Given the description of an element on the screen output the (x, y) to click on. 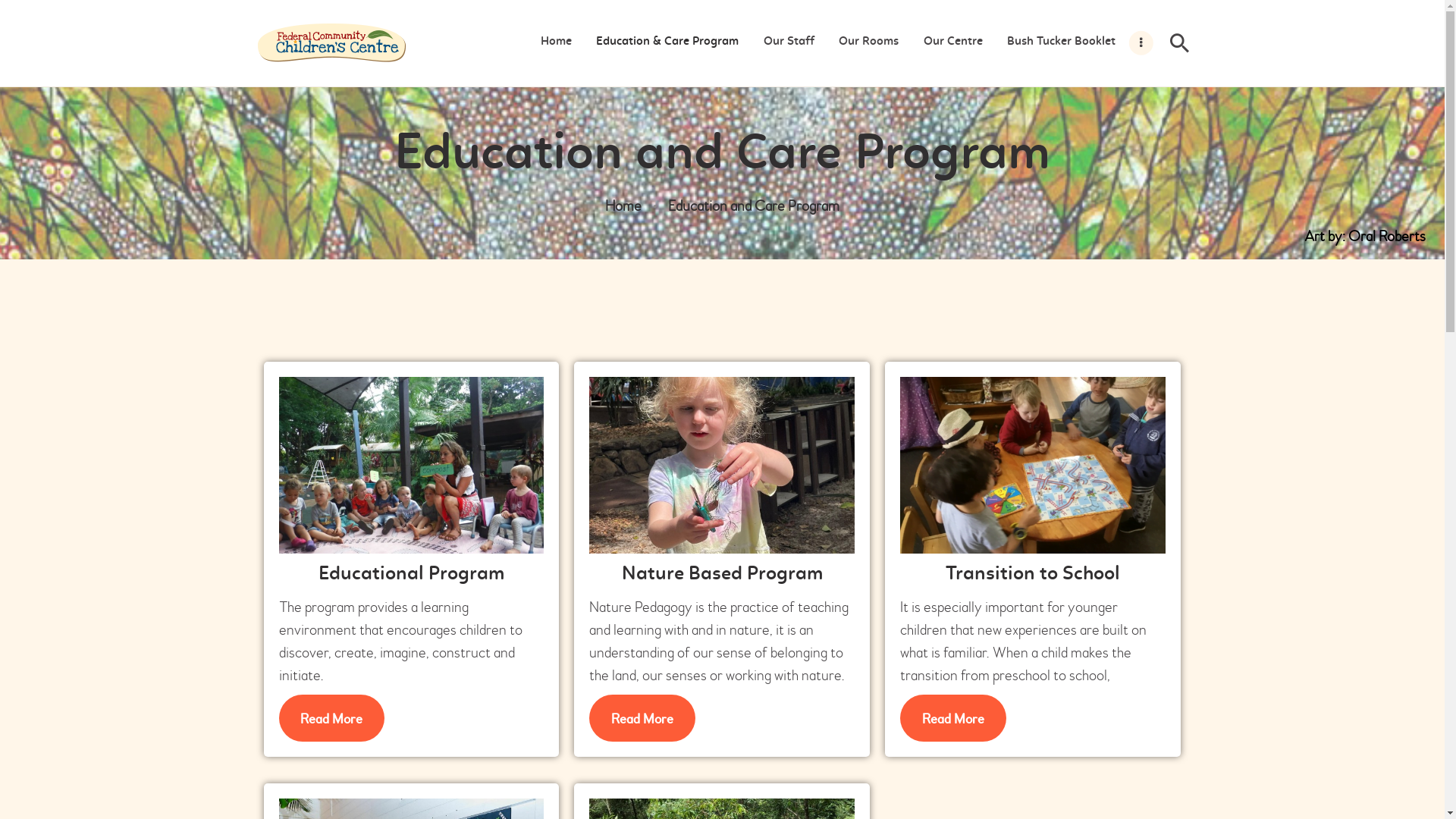
Education & Care Program Element type: text (666, 42)
Educational Program Element type: text (411, 574)
Read More Element type: text (642, 717)
Home Element type: text (623, 205)
Transition to School Element type: text (1032, 574)
Our Staff Element type: text (788, 42)
Our Rooms Element type: text (868, 42)
Nature Based Program Element type: text (721, 574)
Our Centre Element type: text (952, 42)
Bush Tucker Booklet Element type: text (1060, 42)
Home Element type: text (555, 42)
nature based learning Element type: hover (721, 464)
Read More Element type: text (332, 717)
Read More Element type: text (953, 717)
Transitional3 Element type: hover (1032, 464)
